Given the description of an element on the screen output the (x, y) to click on. 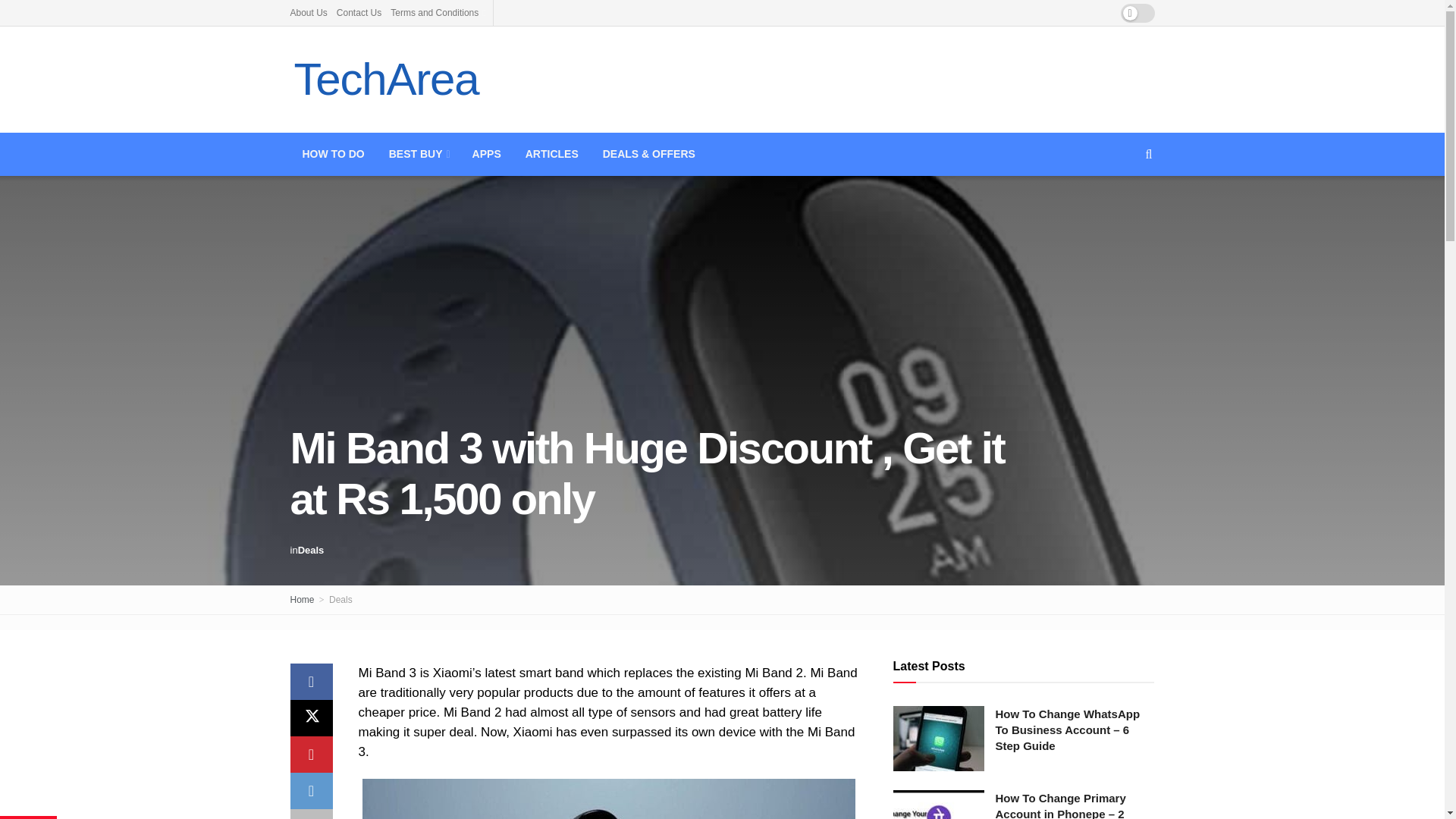
ARTICLES (552, 154)
About Us (307, 12)
HOW TO DO (332, 154)
Terms and Conditions (436, 12)
APPS (486, 154)
BEST BUY (418, 154)
TechArea (385, 79)
Contact Us (358, 12)
